Given the description of an element on the screen output the (x, y) to click on. 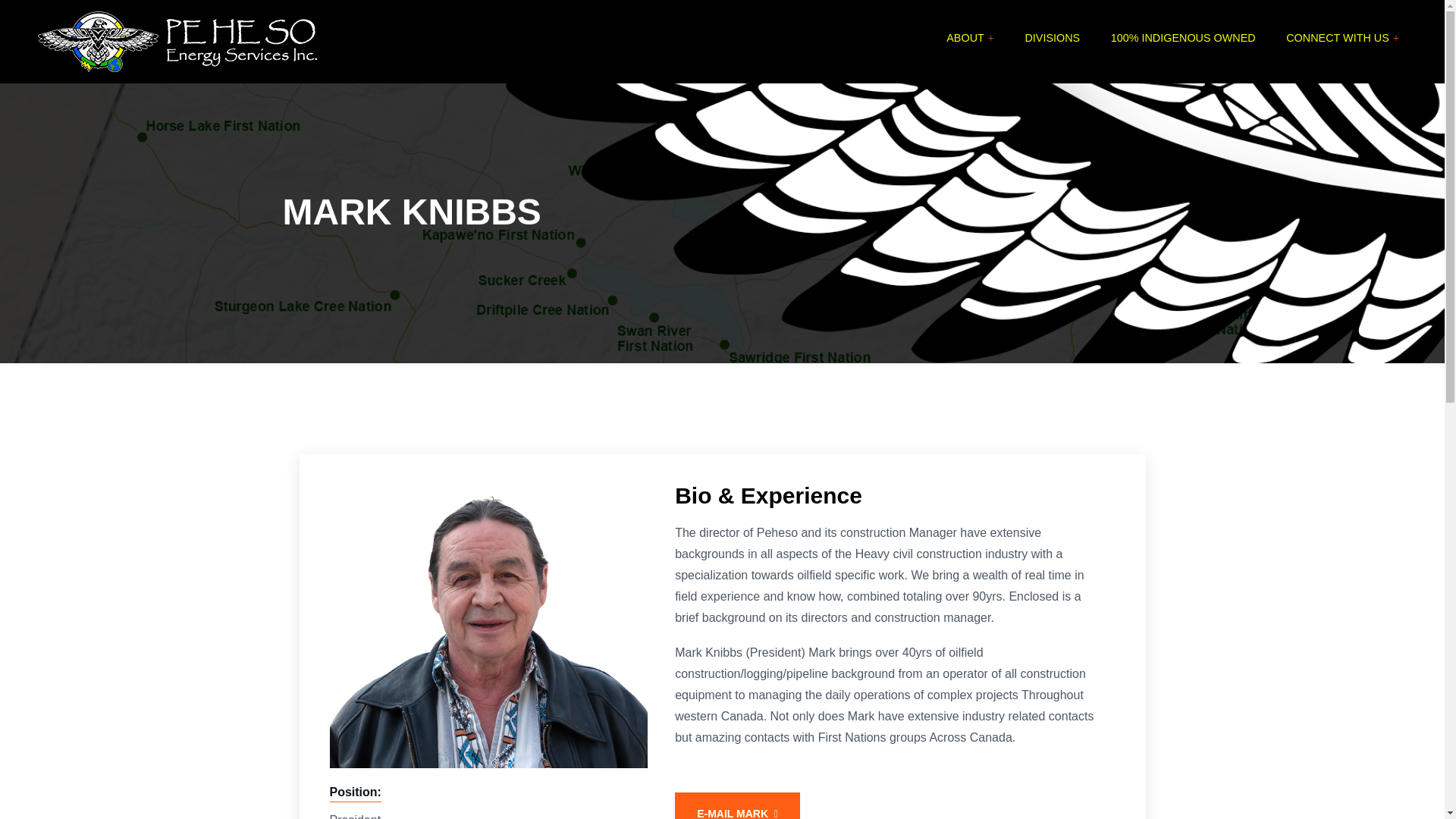
E-MAIL MARK (737, 805)
CONNECT WITH US (1342, 37)
